Given the description of an element on the screen output the (x, y) to click on. 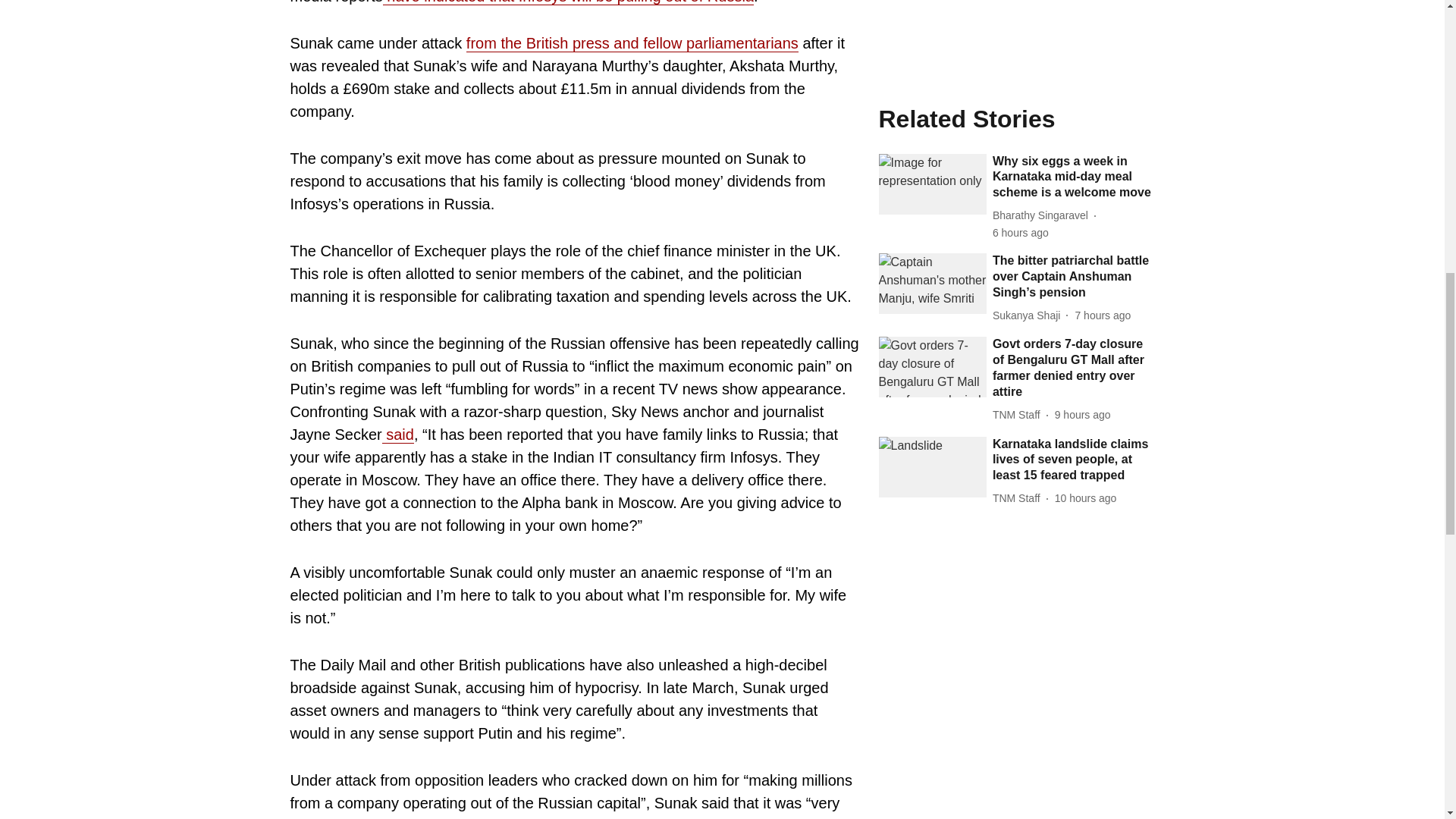
have indicated that Infosys will be pulling out of Russia (568, 2)
from the British press and fellow parliamentarians (631, 43)
said (397, 434)
